Given the description of an element on the screen output the (x, y) to click on. 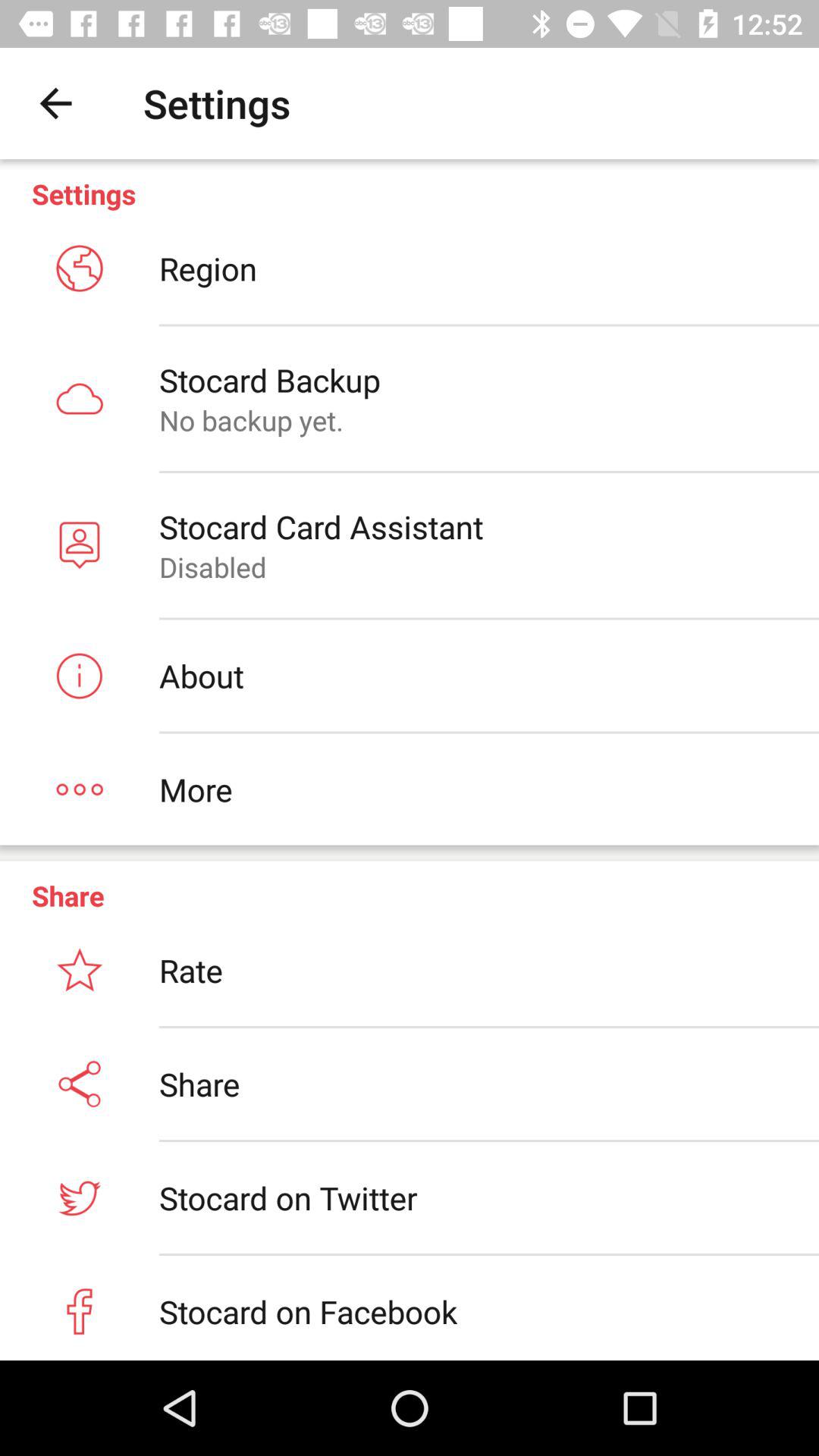
launch item next to the settings item (55, 103)
